Given the description of an element on the screen output the (x, y) to click on. 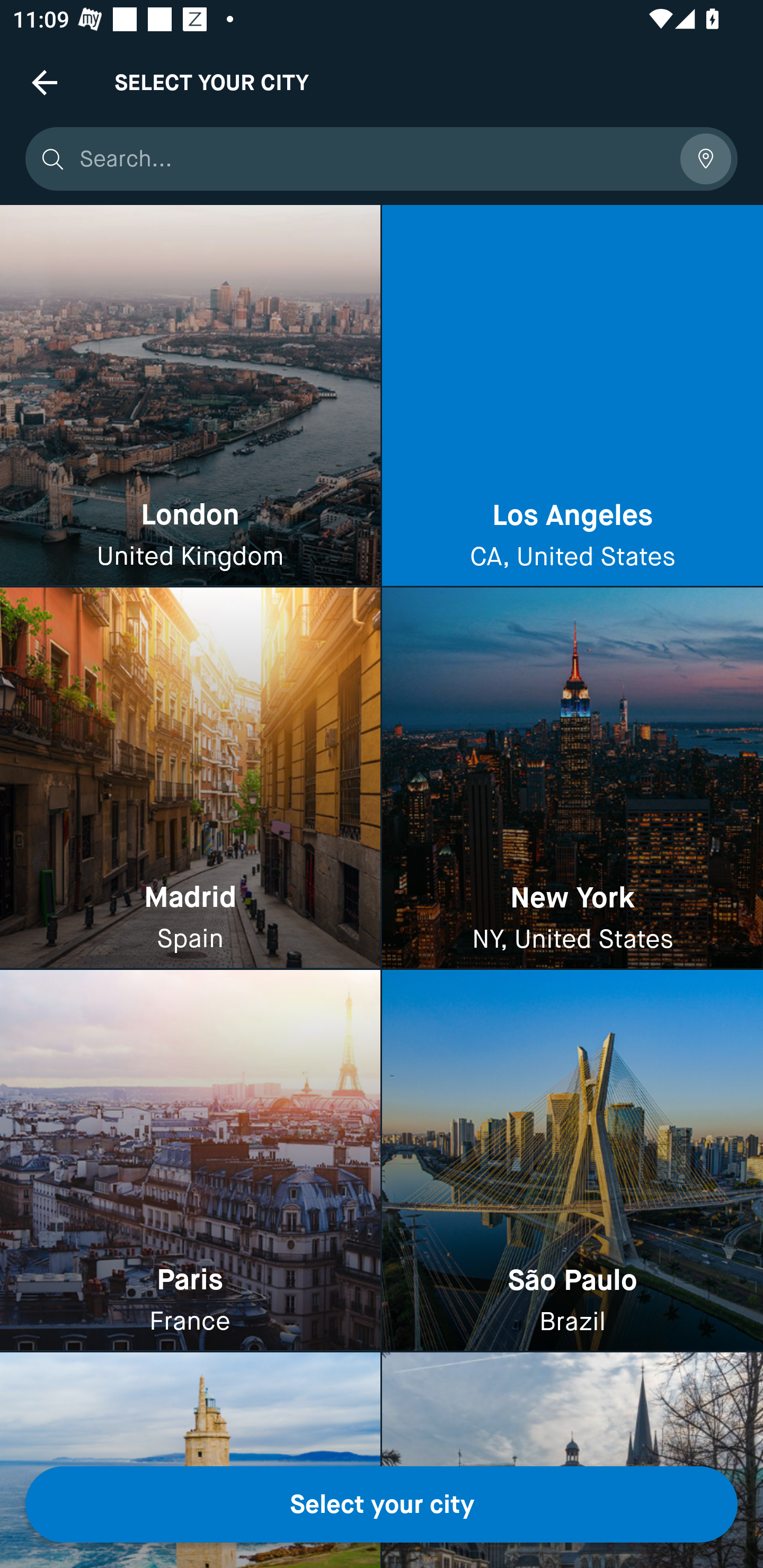
Navigate up (44, 82)
Search... (373, 159)
London United Kingdom (190, 395)
Los Angeles CA, United States (572, 395)
Madrid Spain (190, 778)
New York NY, United States (572, 778)
Paris France (190, 1160)
São Paulo Brazil (572, 1160)
Select your city (381, 1504)
